Given the description of an element on the screen output the (x, y) to click on. 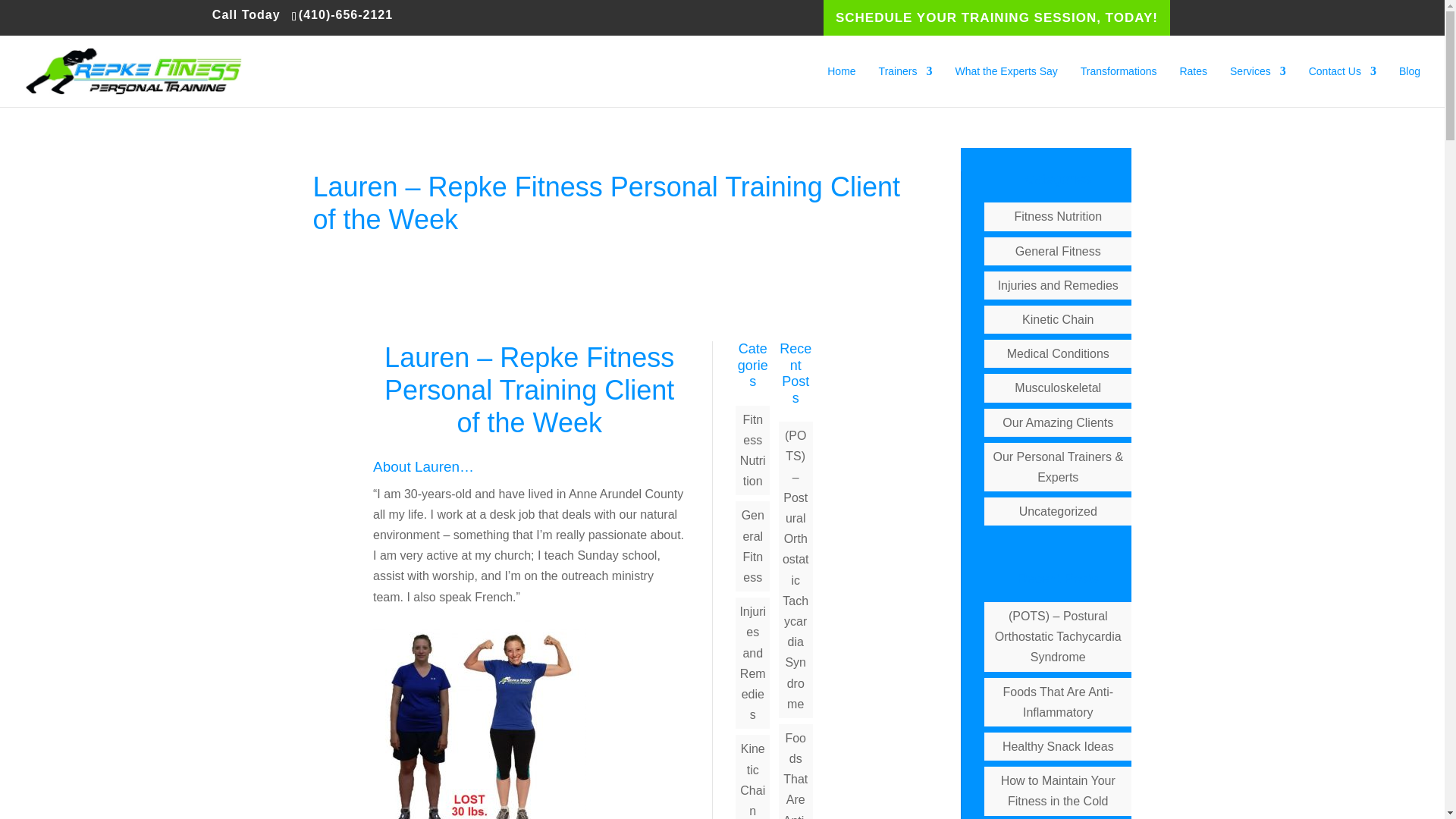
SCHEDULE YOUR TRAINING SESSION, TODAY! (997, 18)
What the Experts Say (1006, 86)
Contact Us (1341, 86)
Trainers (906, 86)
Transformations (1118, 86)
Services (1257, 86)
